Given the description of an element on the screen output the (x, y) to click on. 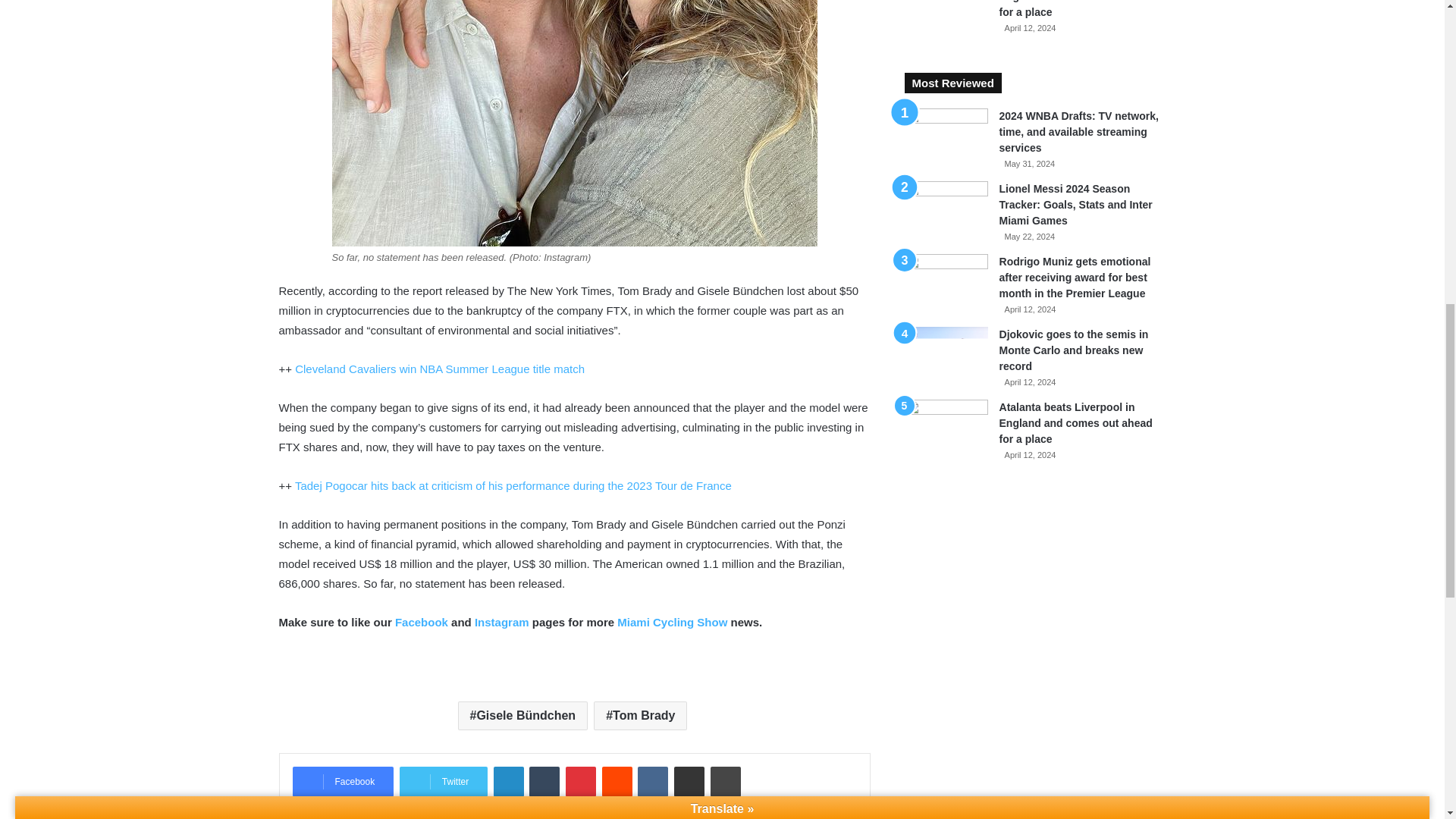
Facebook (343, 781)
LinkedIn (508, 781)
Share via Email (689, 781)
Tumblr (544, 781)
Pinterest (580, 781)
VKontakte (652, 781)
Twitter (442, 781)
Reddit (616, 781)
